Given the description of an element on the screen output the (x, y) to click on. 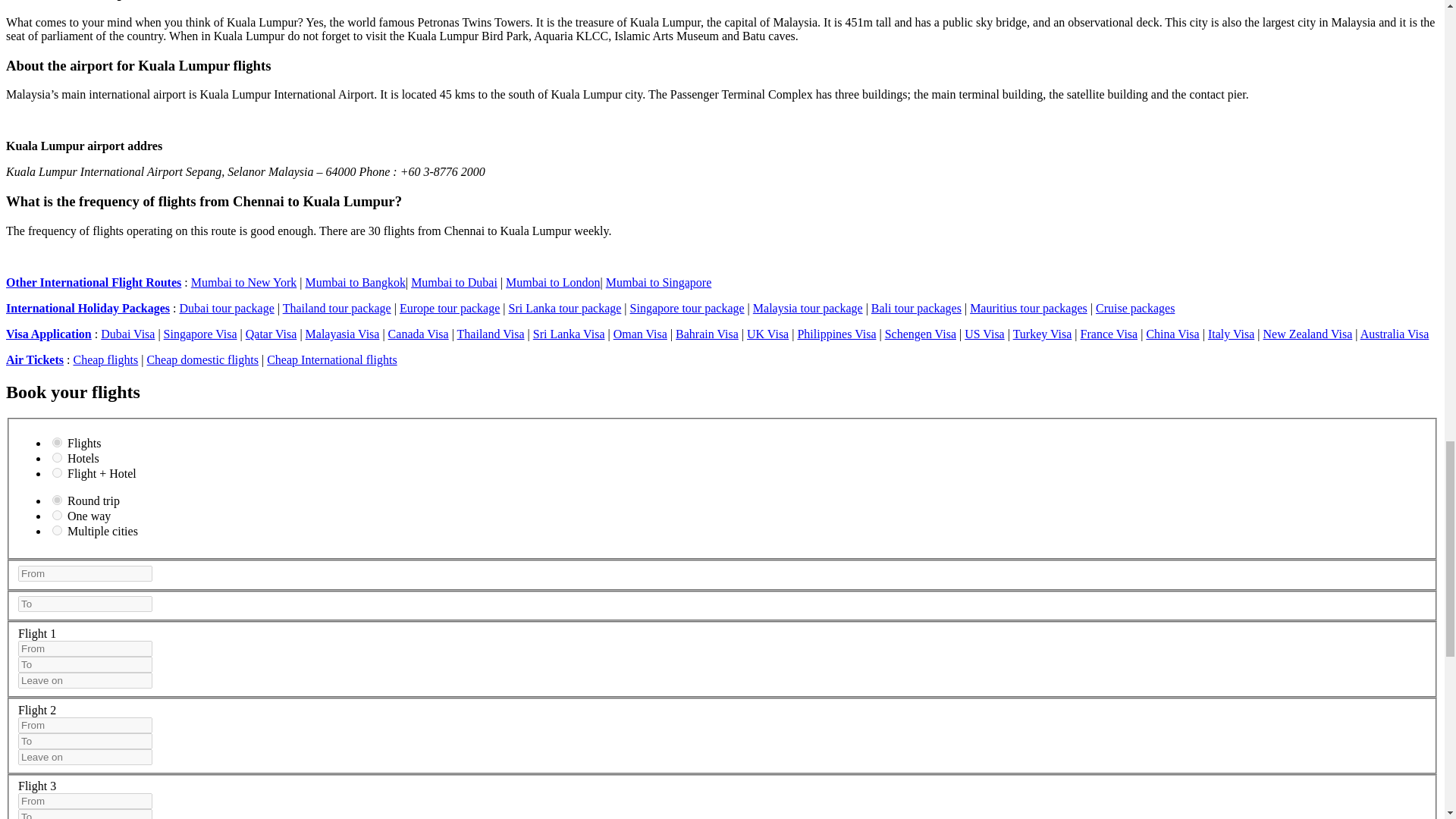
0 (57, 515)
1 (57, 442)
2 (57, 457)
4 (57, 530)
3 (57, 472)
1 (57, 500)
